Given the description of an element on the screen output the (x, y) to click on. 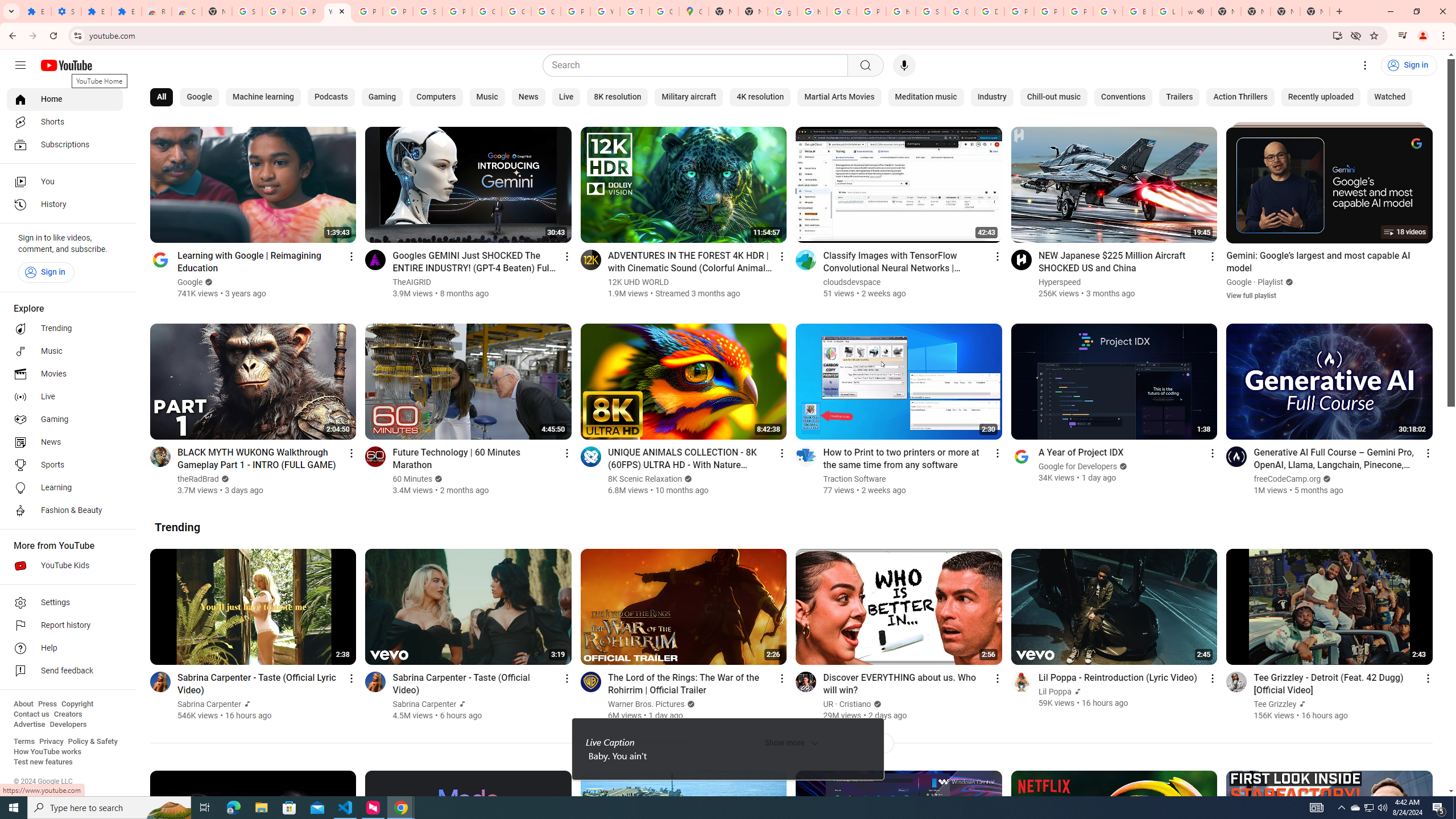
Settings (1365, 65)
Meditation music (925, 97)
Military aircraft (689, 97)
Creators (67, 714)
Search (697, 65)
Show more (790, 742)
